Given the description of an element on the screen output the (x, y) to click on. 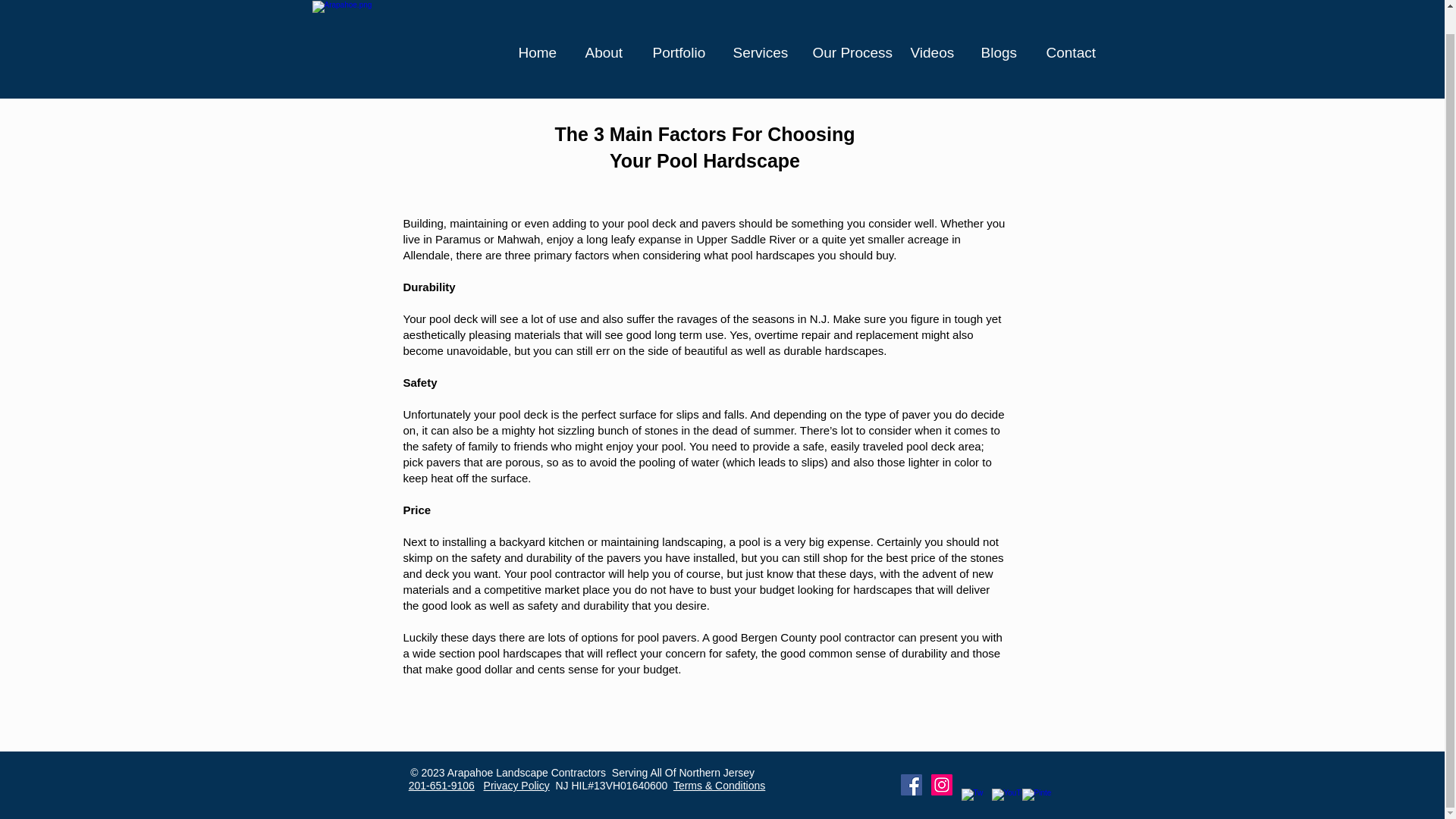
Home (539, 28)
Portfolio (682, 28)
Our Process (849, 28)
About (606, 28)
Contact (1071, 28)
Services (762, 28)
201-651-9106 (441, 785)
Privacy Policy (516, 785)
Blogs (1001, 28)
Videos (705, 147)
